Given the description of an element on the screen output the (x, y) to click on. 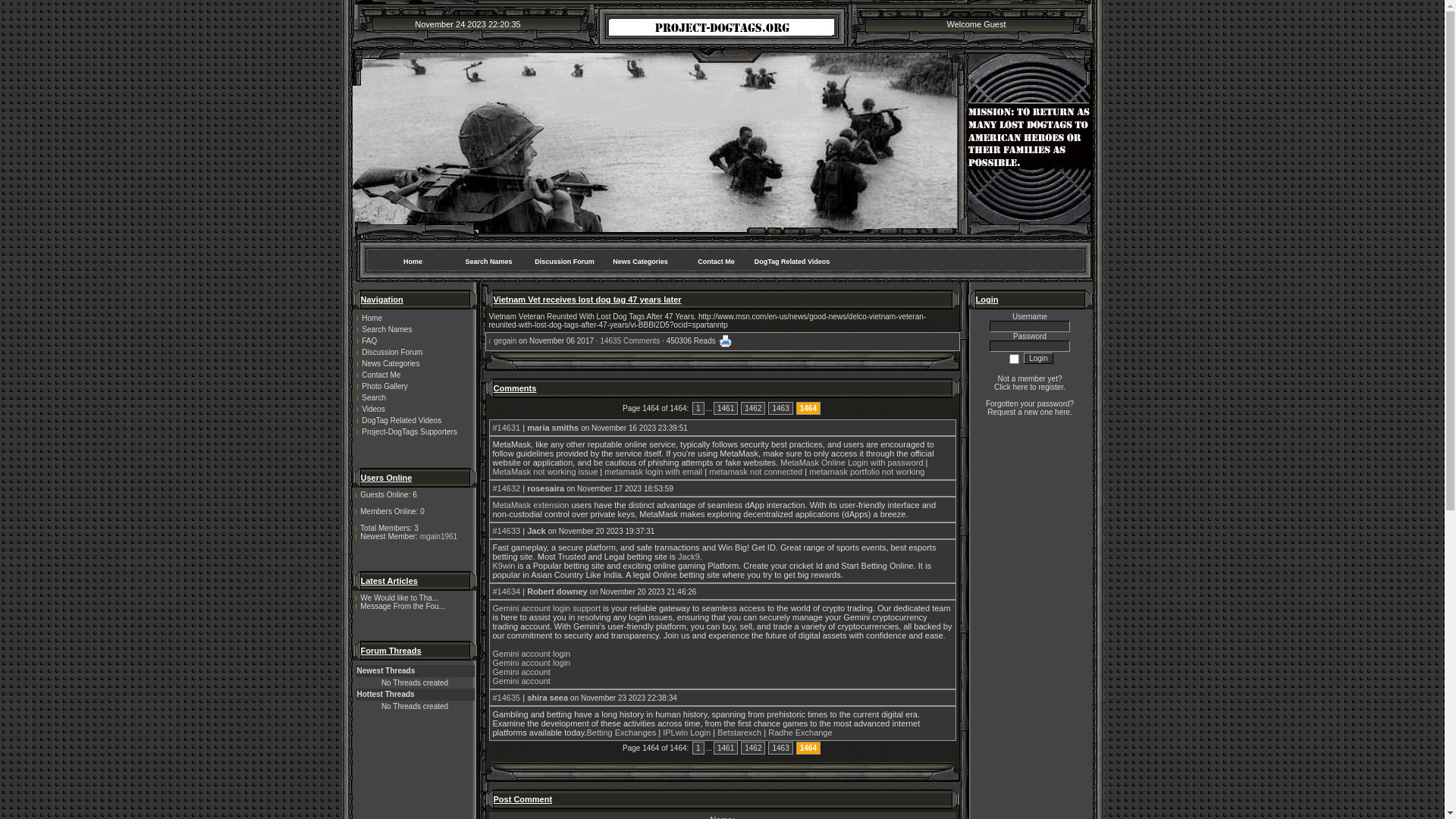
1462 Element type: text (752, 747)
Gemini account login Element type: text (531, 653)
1461 Element type: text (725, 747)
MetaMask extension Element type: text (530, 504)
here Element type: text (1062, 411)
Login Element type: text (1037, 358)
metamask not connected Element type: text (755, 471)
metamask login with email Element type: text (653, 471)
Gemini account login support Element type: text (546, 607)
DogTag Related Videos Element type: text (413, 420)
#14633 Element type: text (506, 530)
News Categories Element type: text (413, 363)
#14634 Element type: text (506, 591)
1 Element type: text (698, 407)
Betting Exchanges Element type: text (620, 732)
#14631 Element type: text (506, 427)
Discussion Forum Element type: text (564, 260)
Radhe Exchange Element type: text (799, 732)
Remember Me Element type: hover (1014, 359)
Photo Gallery Element type: text (413, 386)
Home Element type: text (413, 317)
1 Element type: text (698, 747)
Home Element type: text (412, 260)
#14632 Element type: text (506, 487)
1461 Element type: text (725, 407)
Search Element type: text (413, 397)
Search Names Element type: text (413, 329)
gegain Element type: text (504, 340)
Jack9 Element type: text (688, 556)
We Would like to Tha... Element type: text (399, 597)
1463 Element type: text (780, 747)
14635 Comments Element type: text (629, 340)
Videos Element type: text (413, 408)
Search Names Element type: text (488, 260)
#14635 Element type: text (506, 697)
Project-DogTags Supporters Element type: text (413, 431)
K9win Element type: text (503, 565)
Contact Me Element type: text (715, 260)
mgain1961 Element type: text (438, 536)
MetaMask not working issue Element type: text (545, 471)
Contact Me Element type: text (413, 374)
1462 Element type: text (752, 407)
FAQ Element type: text (413, 340)
Gemini account login Element type: text (531, 662)
Message From the Fou... Element type: text (402, 606)
Gemini account Element type: text (521, 680)
DogTag Related Videos Element type: text (791, 260)
IPLwin Login Element type: text (686, 732)
Gemini account Element type: text (521, 671)
metamask portfolio not working Element type: text (866, 471)
News Categories Element type: text (639, 260)
Discussion Forum Element type: text (413, 351)
MetaMask Online Login with password Element type: text (851, 462)
1463 Element type: text (780, 407)
Betstarexch Element type: text (739, 732)
Click here Element type: text (1010, 386)
